Given the description of an element on the screen output the (x, y) to click on. 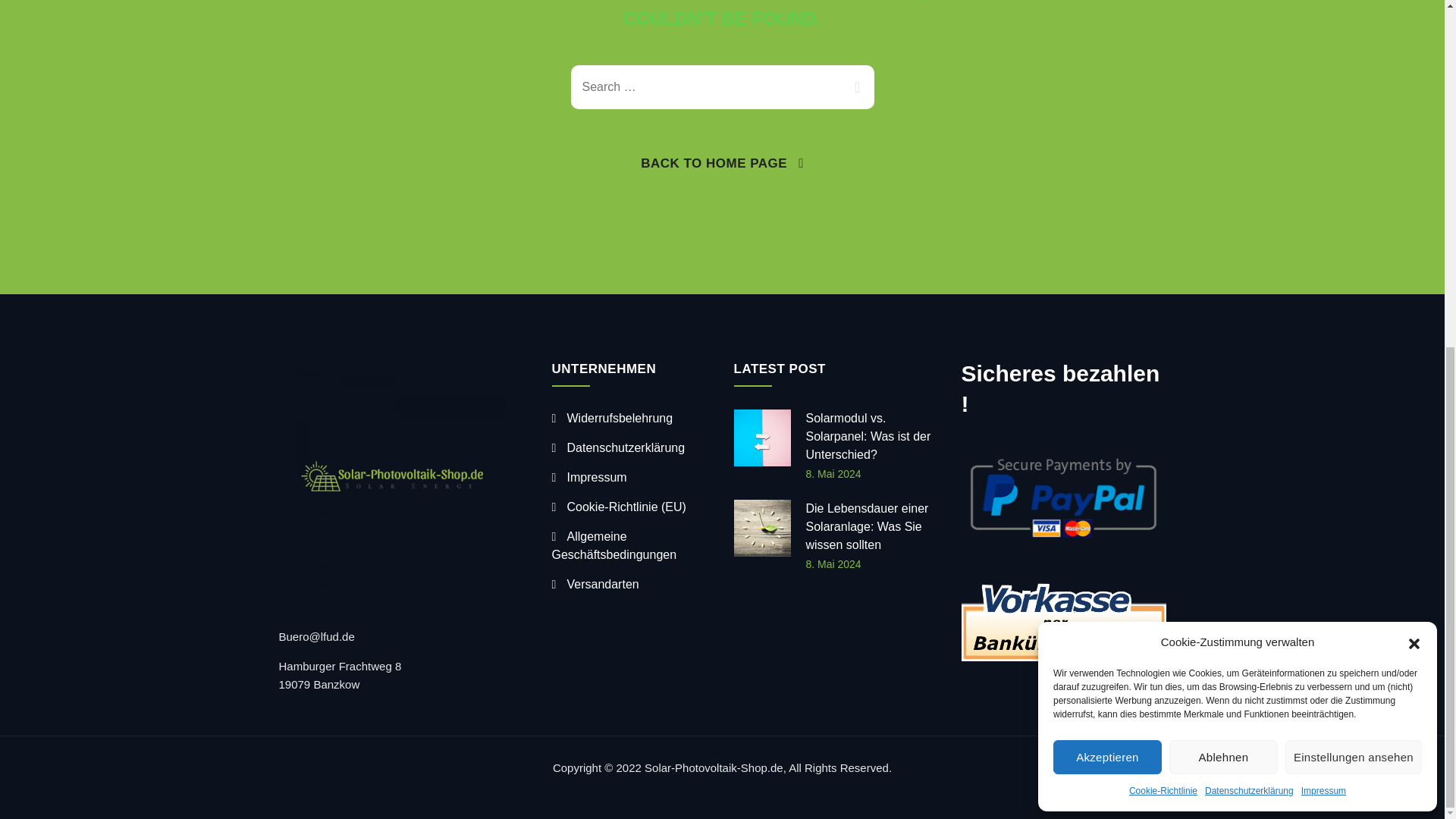
Cookie-Richtlinie (1162, 192)
Einstellungen ansehen (1353, 158)
Ablehnen (1223, 158)
Impressum (1323, 192)
Akzeptieren (1106, 158)
